Given the description of an element on the screen output the (x, y) to click on. 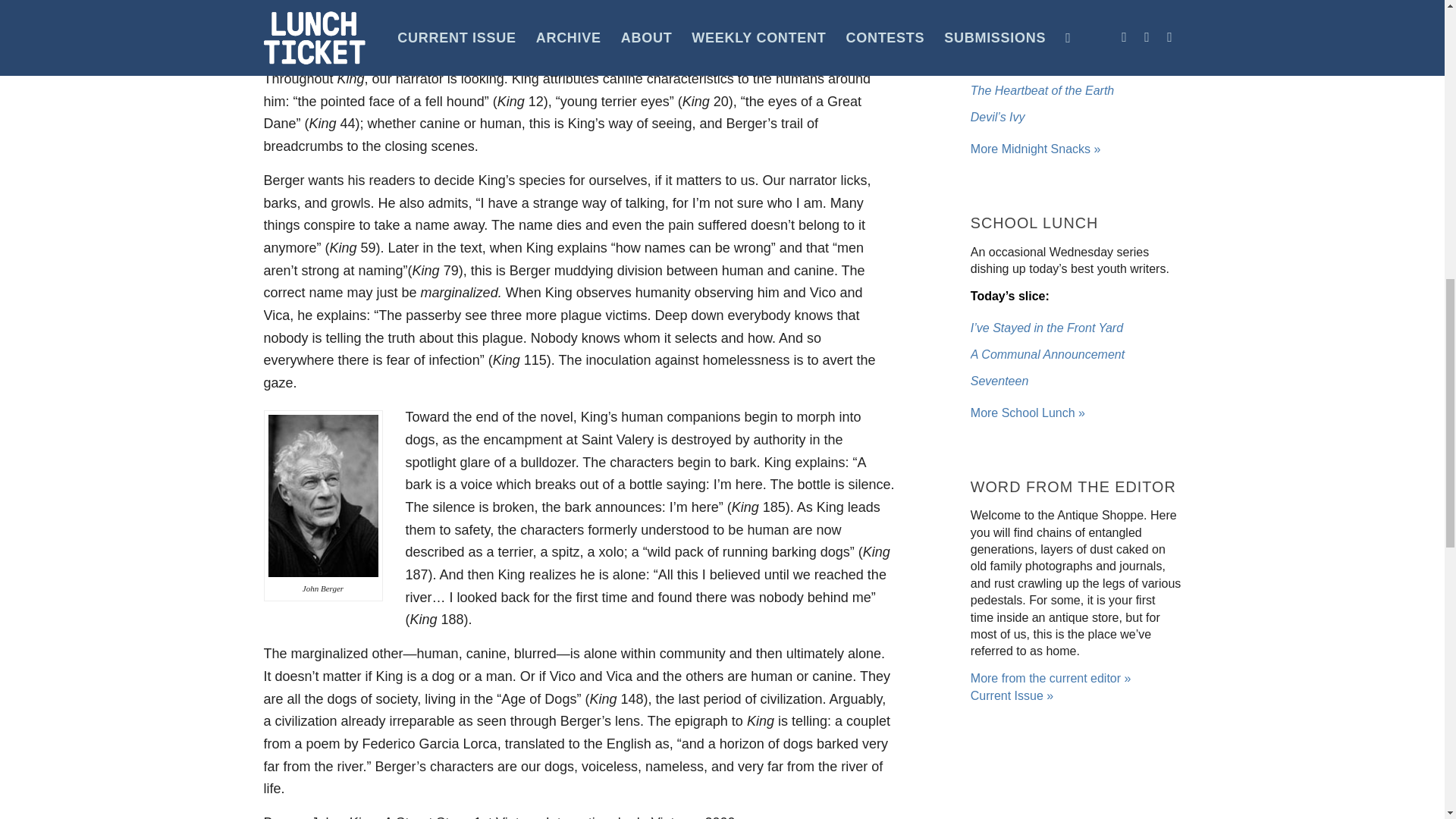
Permanent Link: The Heartbeat of the Earth (1042, 90)
Welcome to Lunch Ticket (1027, 412)
Permanent Link: Seventeen (1000, 380)
Permanent Link: A Family That Prays Together (1050, 63)
Permanent Link: A Communal Announcement (1047, 354)
